Given the description of an element on the screen output the (x, y) to click on. 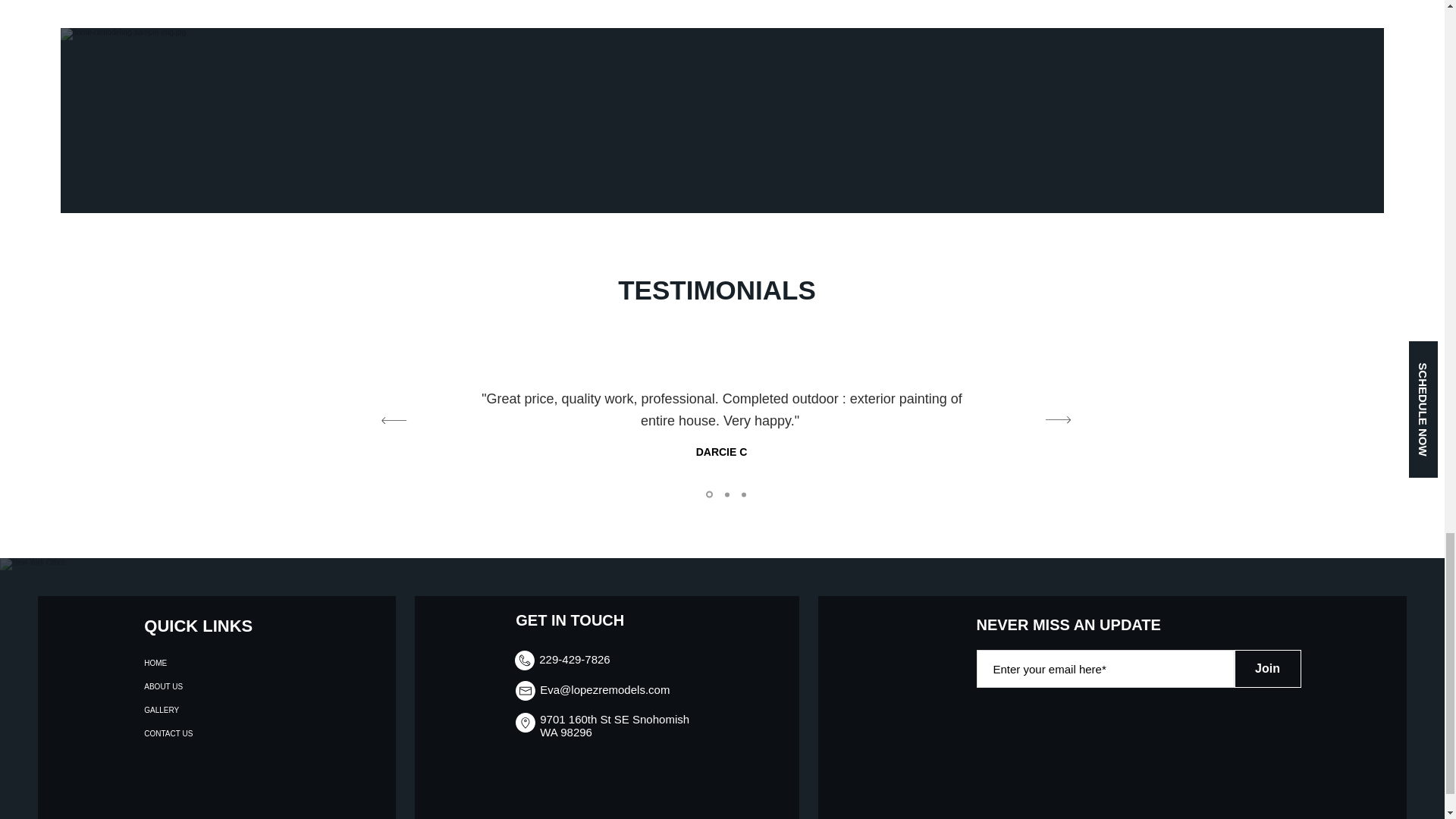
CONTACT US (192, 733)
ABOUT US (192, 686)
HOME (192, 662)
GALLERY (192, 709)
229-429-7826 (574, 658)
Join (1267, 668)
